Given the description of an element on the screen output the (x, y) to click on. 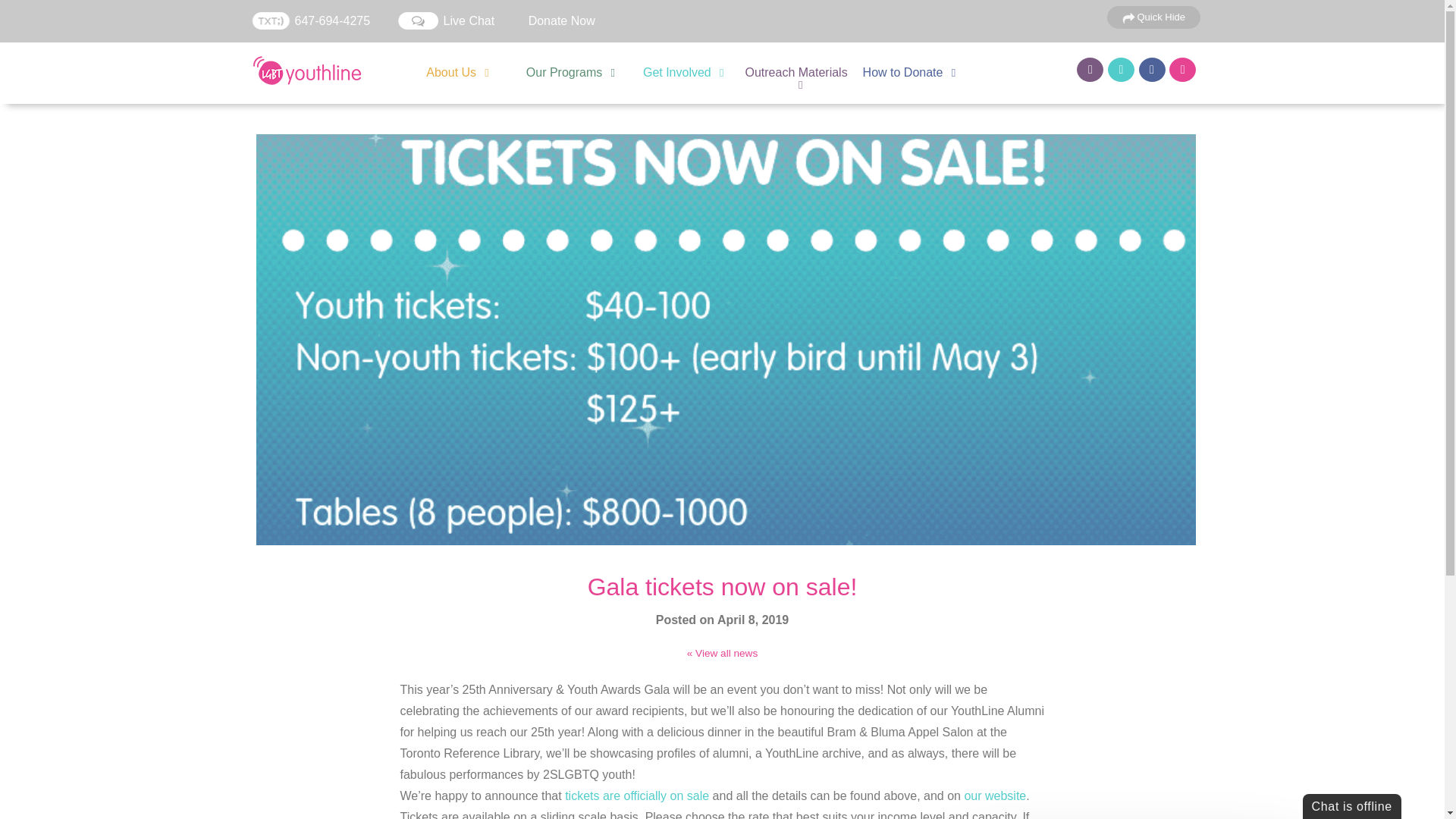
tickets are officially on sale (636, 795)
647-694-4275 (308, 20)
Live Chat (445, 20)
our website (994, 795)
How to Donate (903, 72)
Quick Hide (1152, 17)
Get Involved (677, 72)
About Us (451, 72)
Our Programs (563, 72)
Donate Now (561, 21)
